Given the description of an element on the screen output the (x, y) to click on. 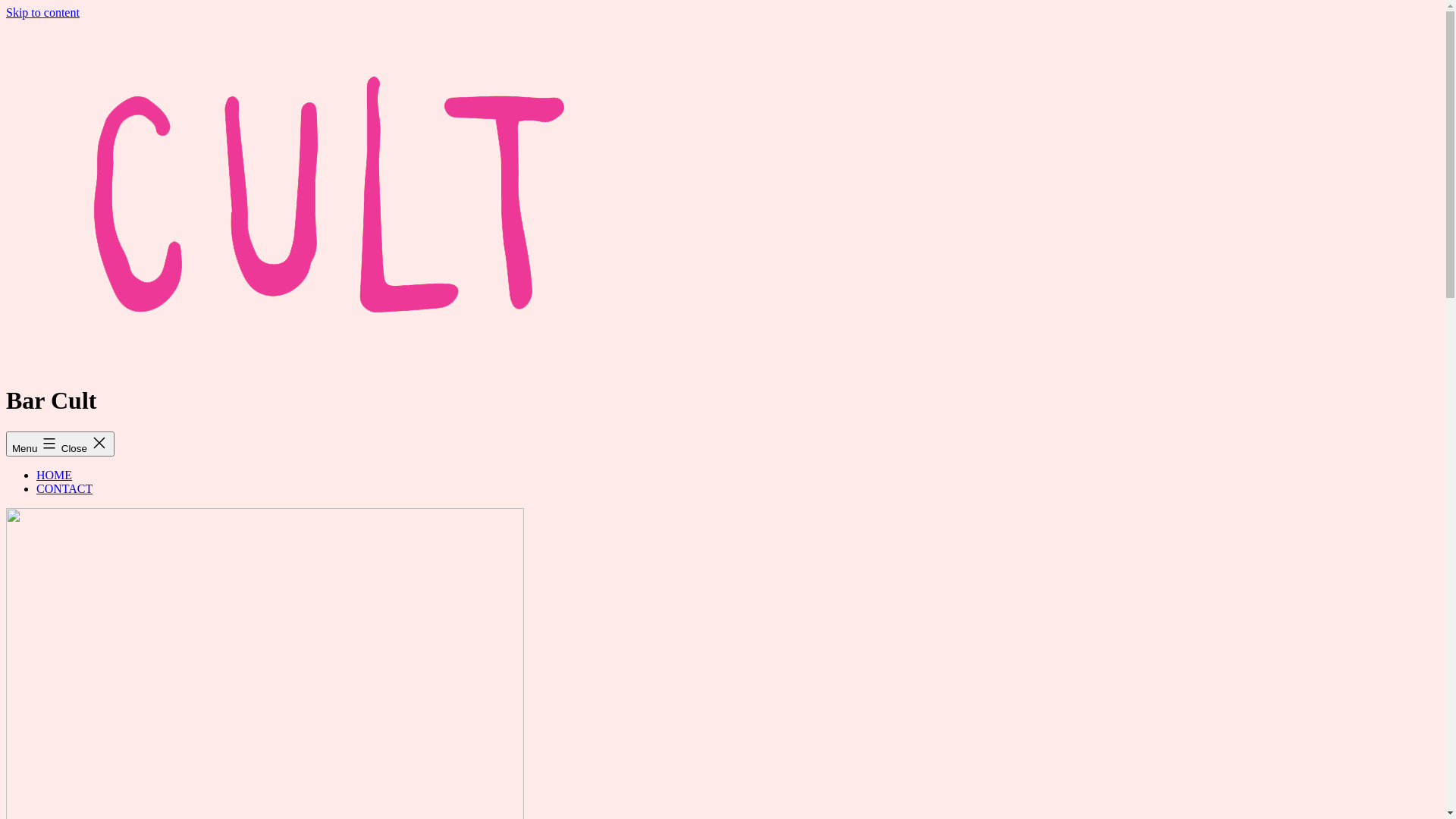
CONTACT Element type: text (64, 488)
HOME Element type: text (54, 474)
Menu Close Element type: text (60, 443)
Skip to content Element type: text (42, 12)
